Given the description of an element on the screen output the (x, y) to click on. 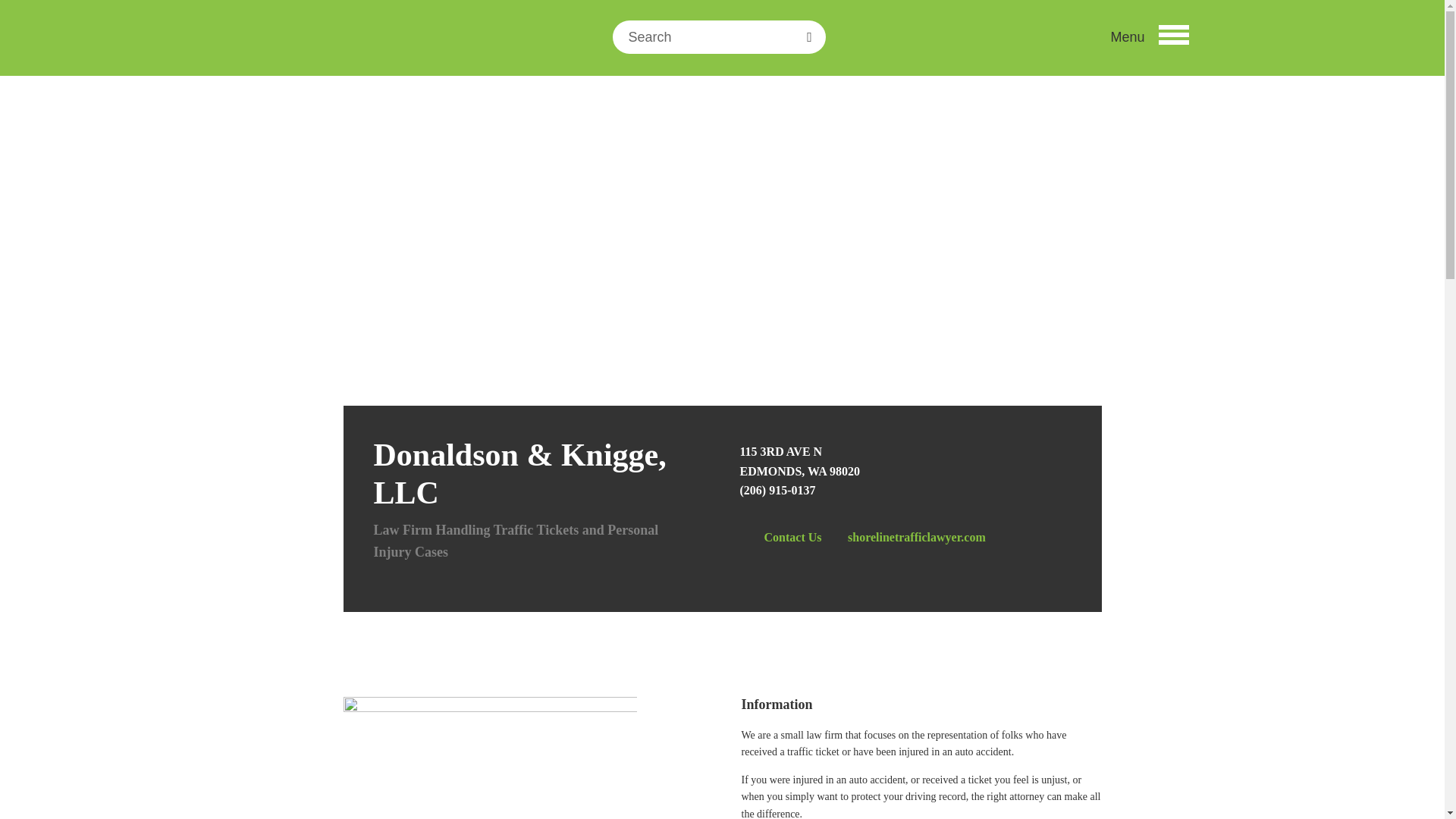
Ed! Edmonds Downtown Alliance (348, 45)
Search (634, 61)
Menu (1148, 36)
